Given the description of an element on the screen output the (x, y) to click on. 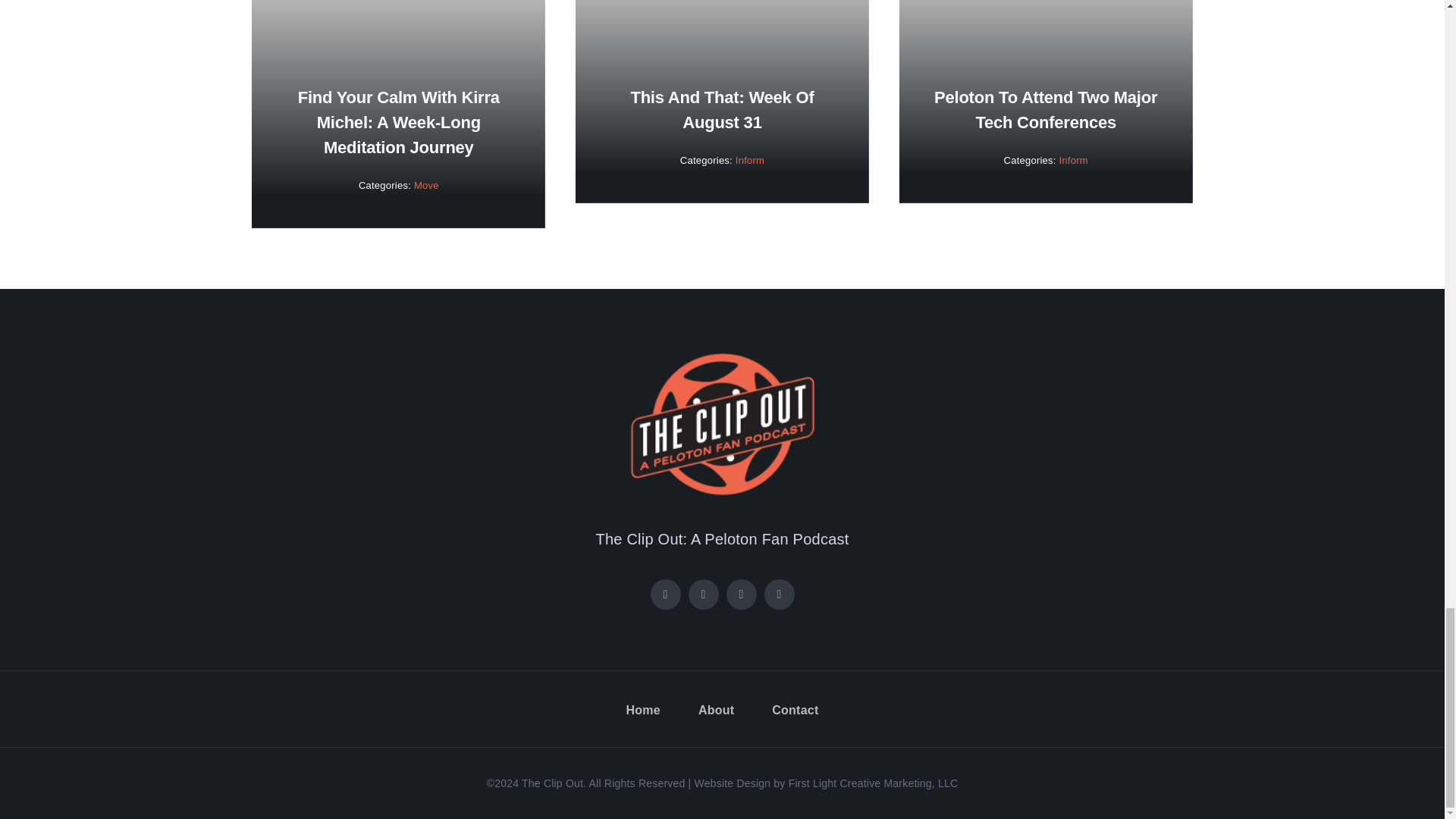
YouTube (779, 594)
X (703, 594)
Instagram (741, 594)
Facebook (665, 594)
